Given the description of an element on the screen output the (x, y) to click on. 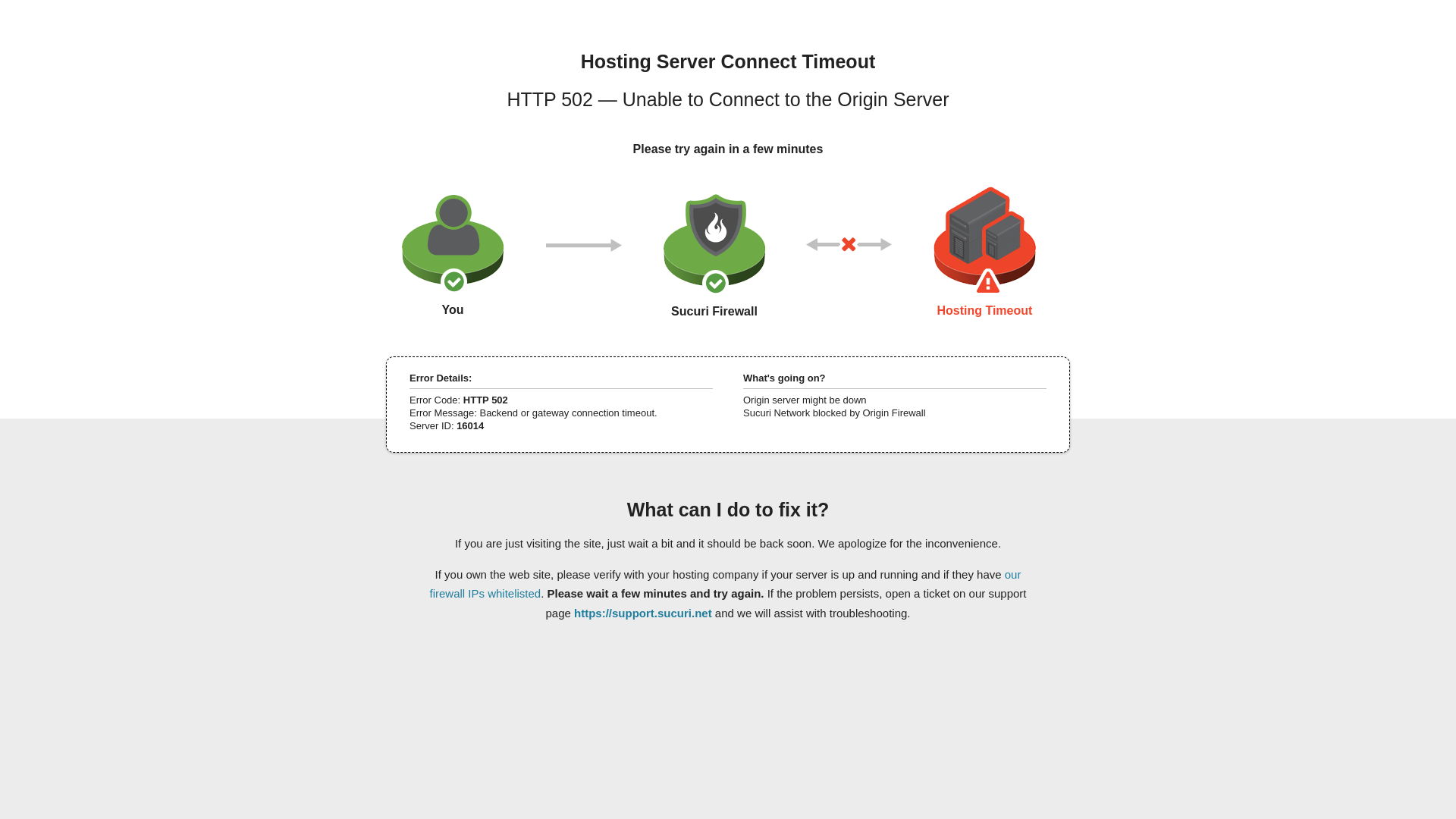
our firewall IPs whitelisted (724, 583)
